Given the description of an element on the screen output the (x, y) to click on. 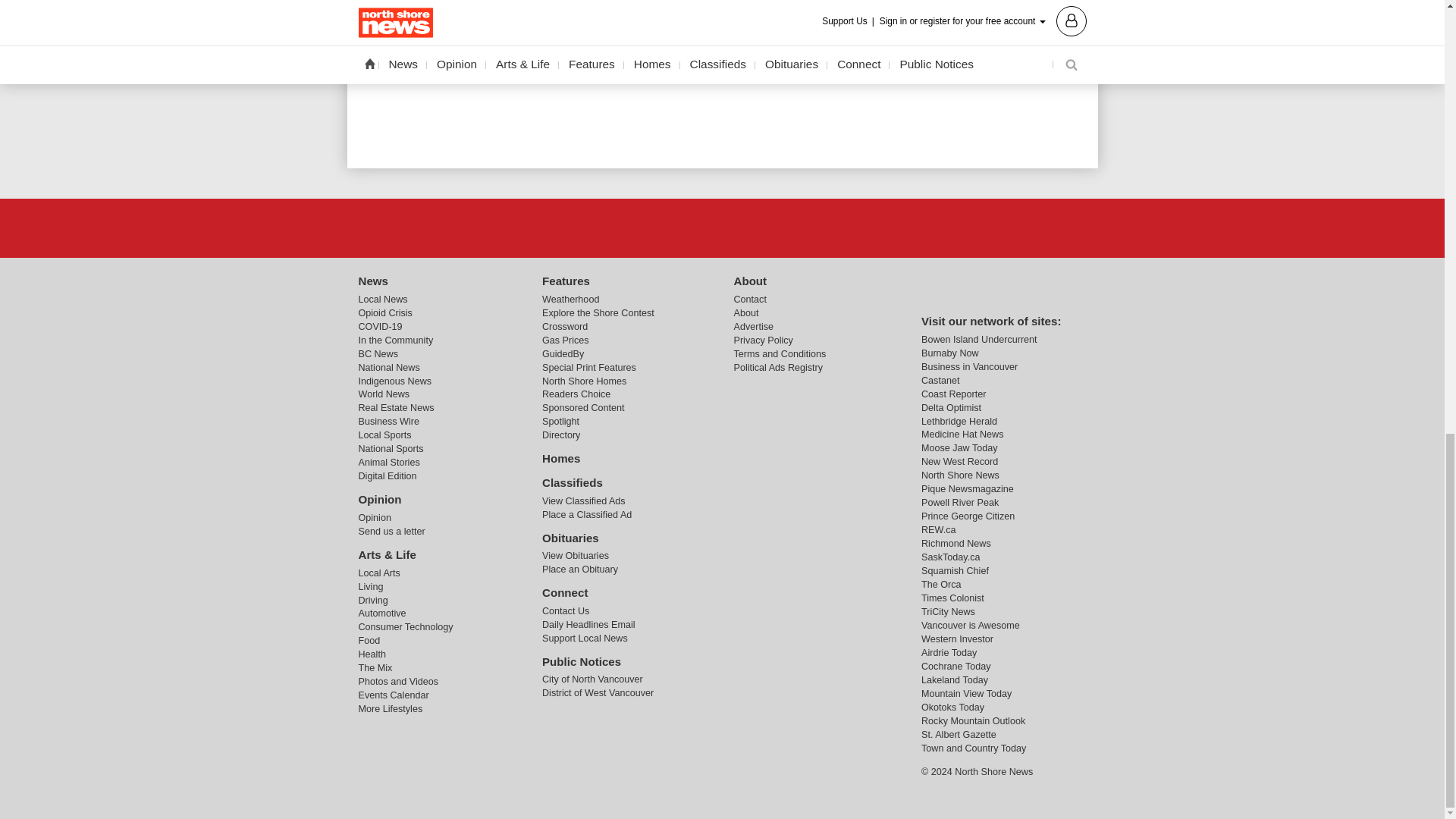
Instagram (760, 226)
X (721, 226)
Facebook (683, 226)
